Given the description of an element on the screen output the (x, y) to click on. 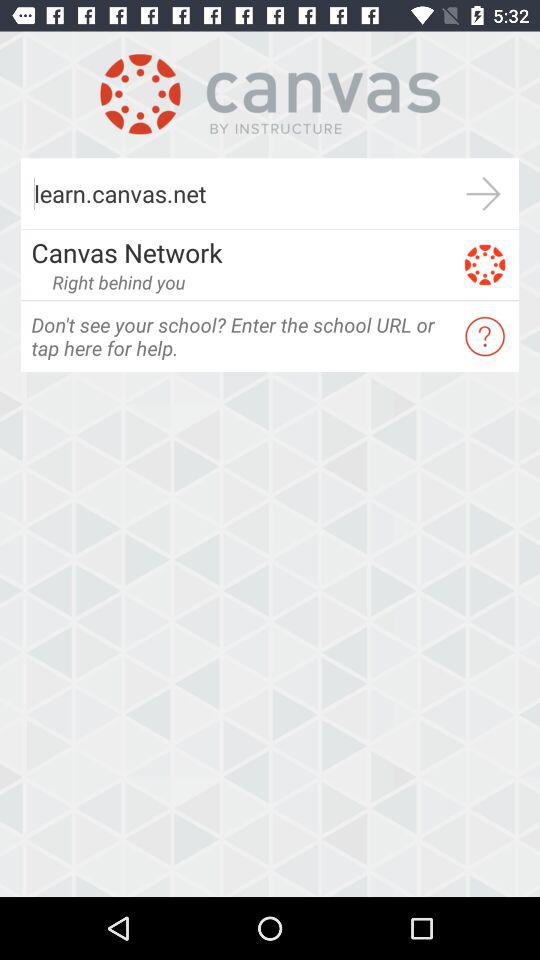
select item to the right of the learn.canvas.net (483, 193)
